Given the description of an element on the screen output the (x, y) to click on. 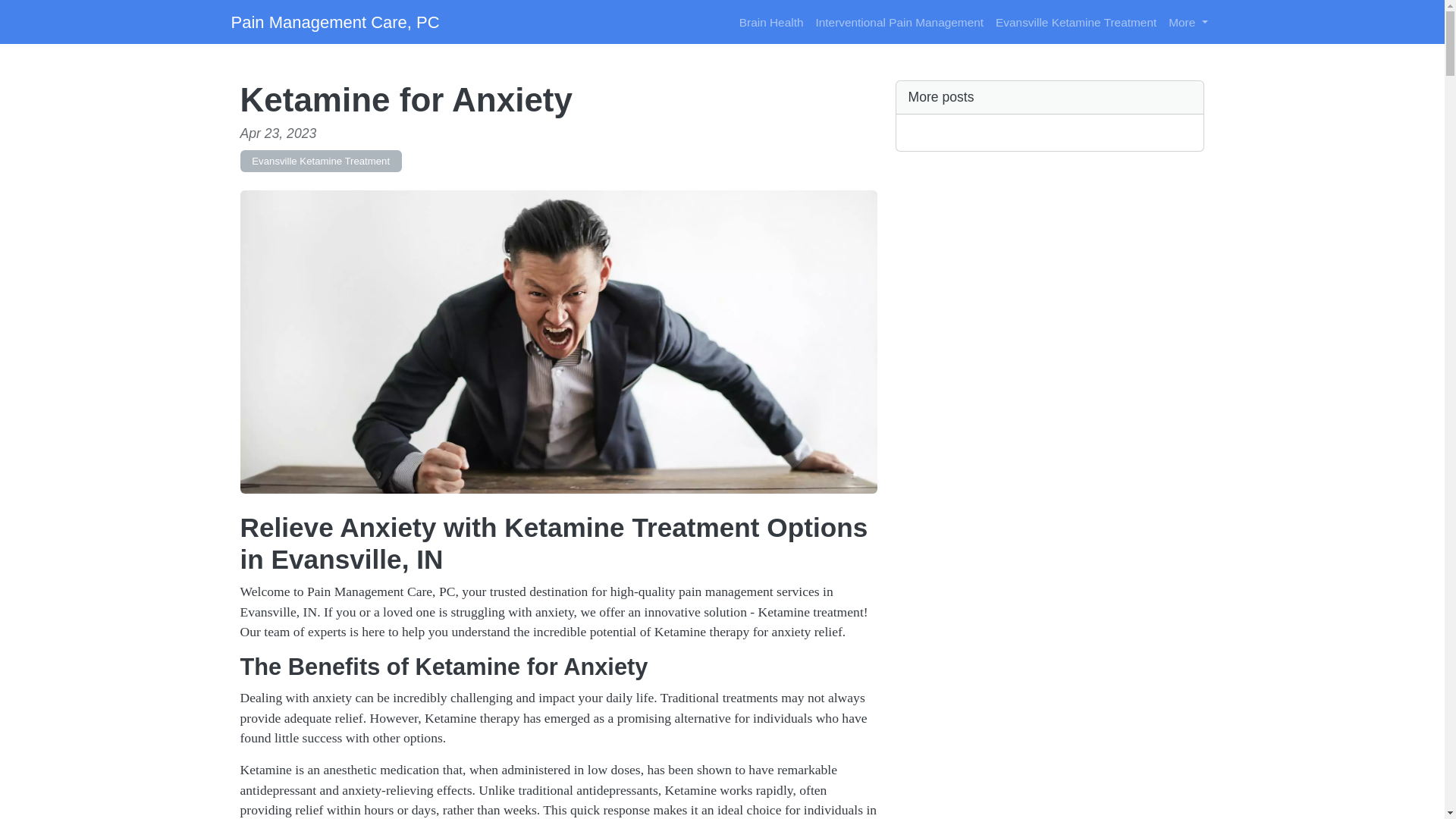
Evansville Ketamine Treatment (320, 160)
More (1186, 21)
Evansville Ketamine Treatment (1075, 21)
Interventional Pain Management (899, 21)
Brain Health (771, 21)
Pain Management Care, PC (334, 21)
